Given the description of an element on the screen output the (x, y) to click on. 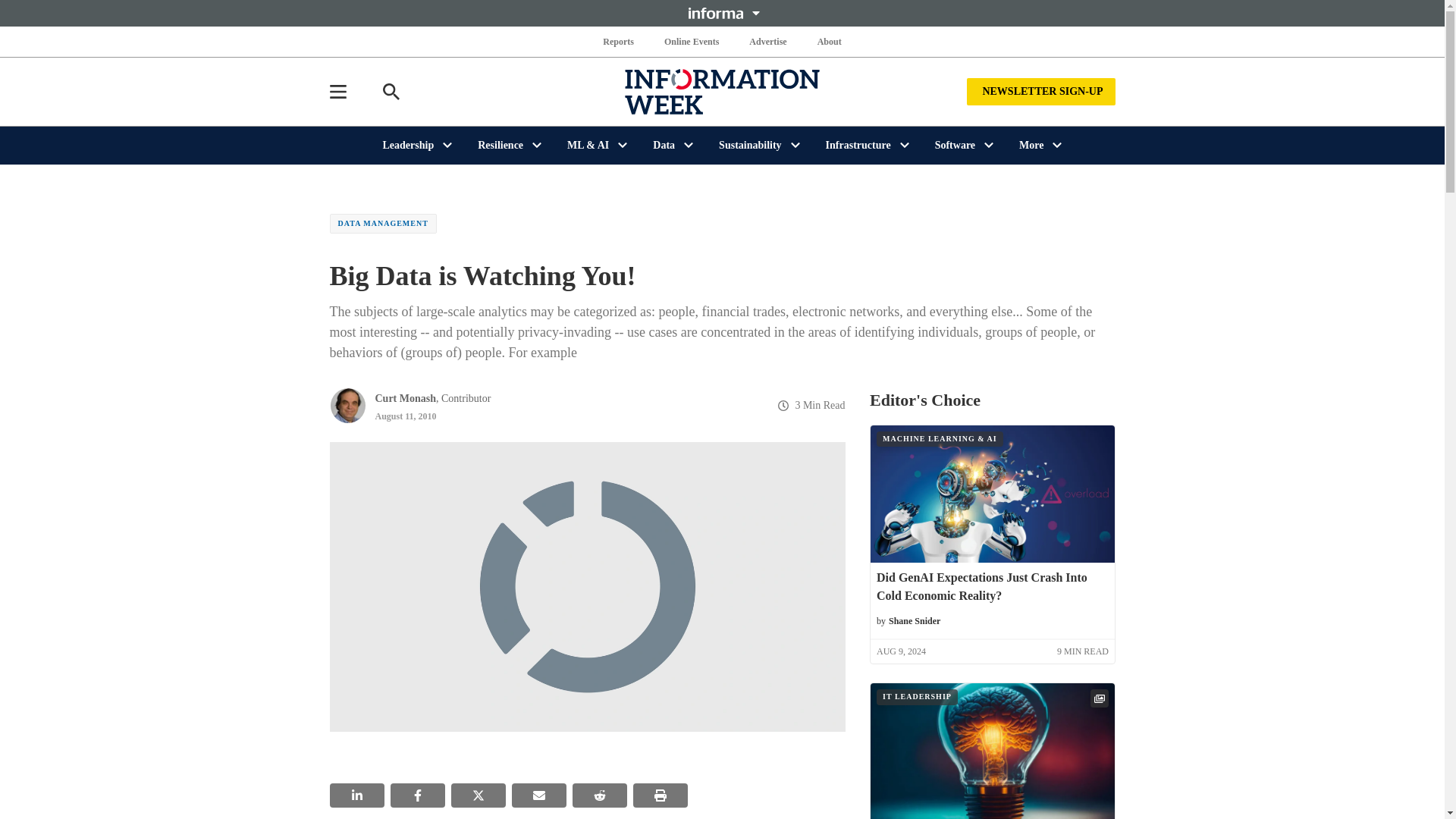
Reports (618, 41)
About (828, 41)
NEWSLETTER SIGN-UP (1040, 90)
Online Events (691, 41)
InformationWeek (722, 91)
Advertise (767, 41)
